Given the description of an element on the screen output the (x, y) to click on. 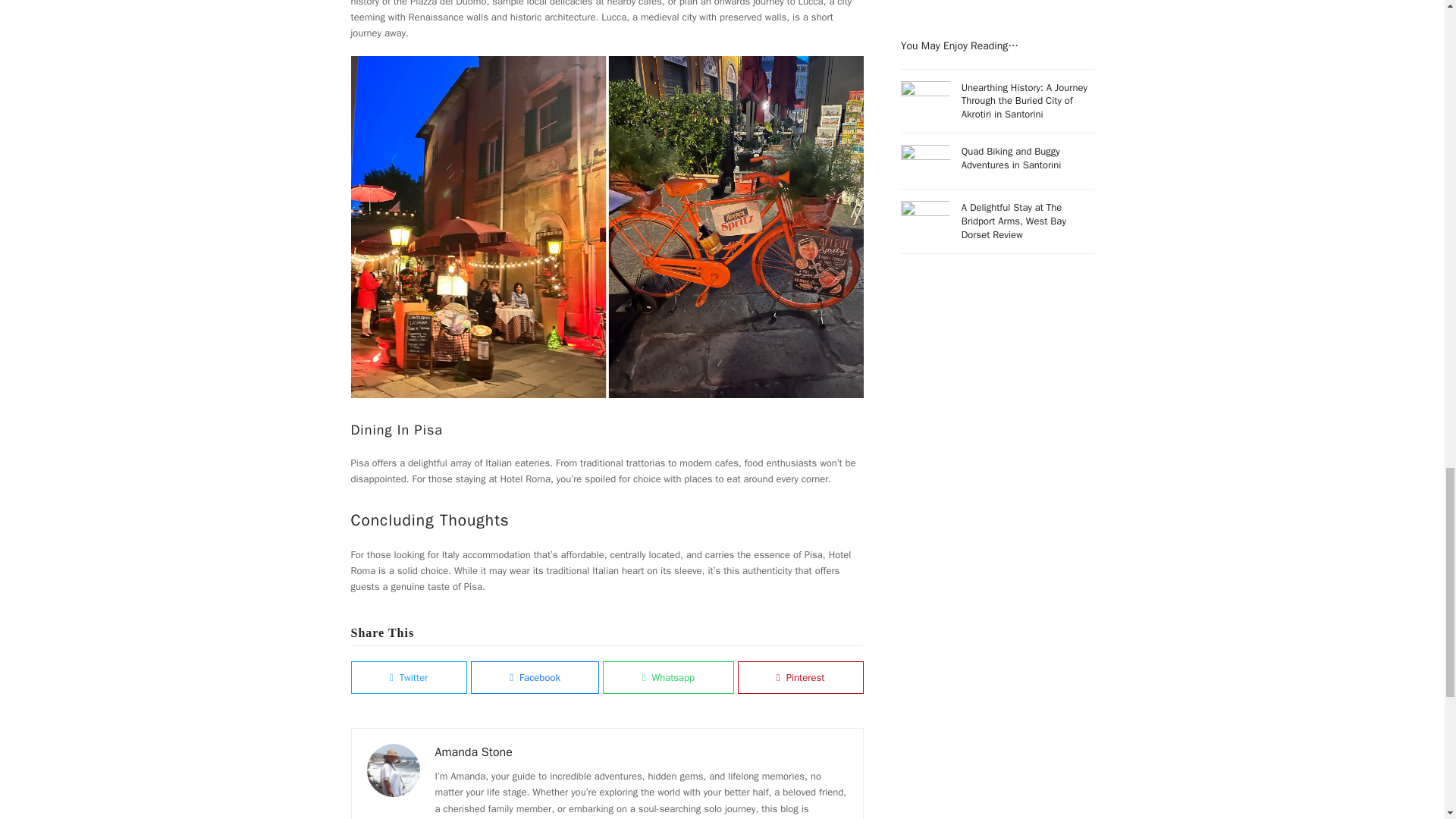
Pinterest (800, 676)
Visit Author Page (393, 769)
Facebook (534, 676)
Amanda Stone (473, 752)
Whatsapp (667, 676)
Visit Author Page (473, 752)
Twitter (407, 676)
